Given the description of an element on the screen output the (x, y) to click on. 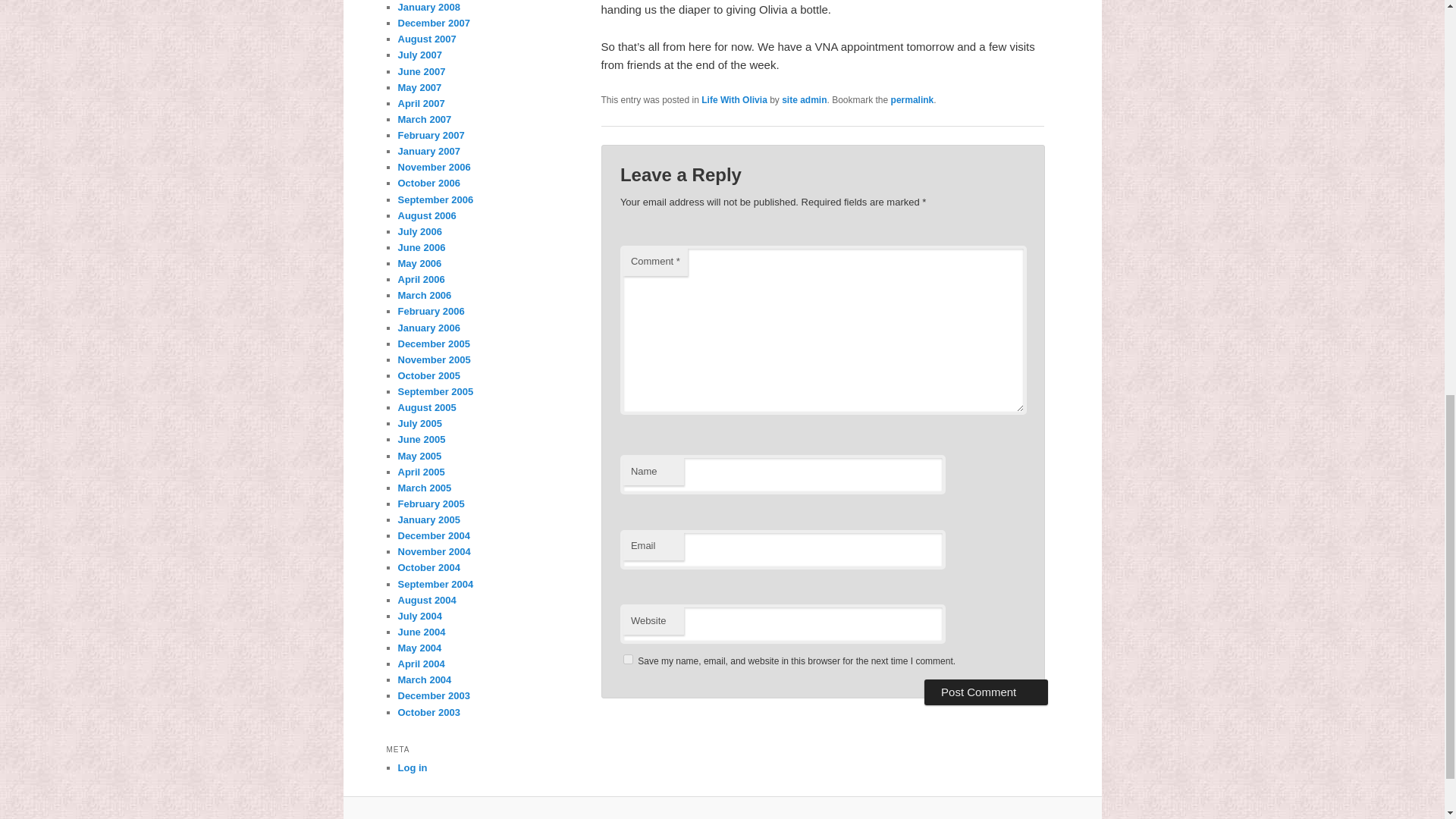
Permalink to Random Thoughts (912, 100)
site admin (804, 100)
Post Comment (986, 692)
permalink (912, 100)
Life With Olivia (734, 100)
Post Comment (986, 692)
yes (628, 659)
